Given the description of an element on the screen output the (x, y) to click on. 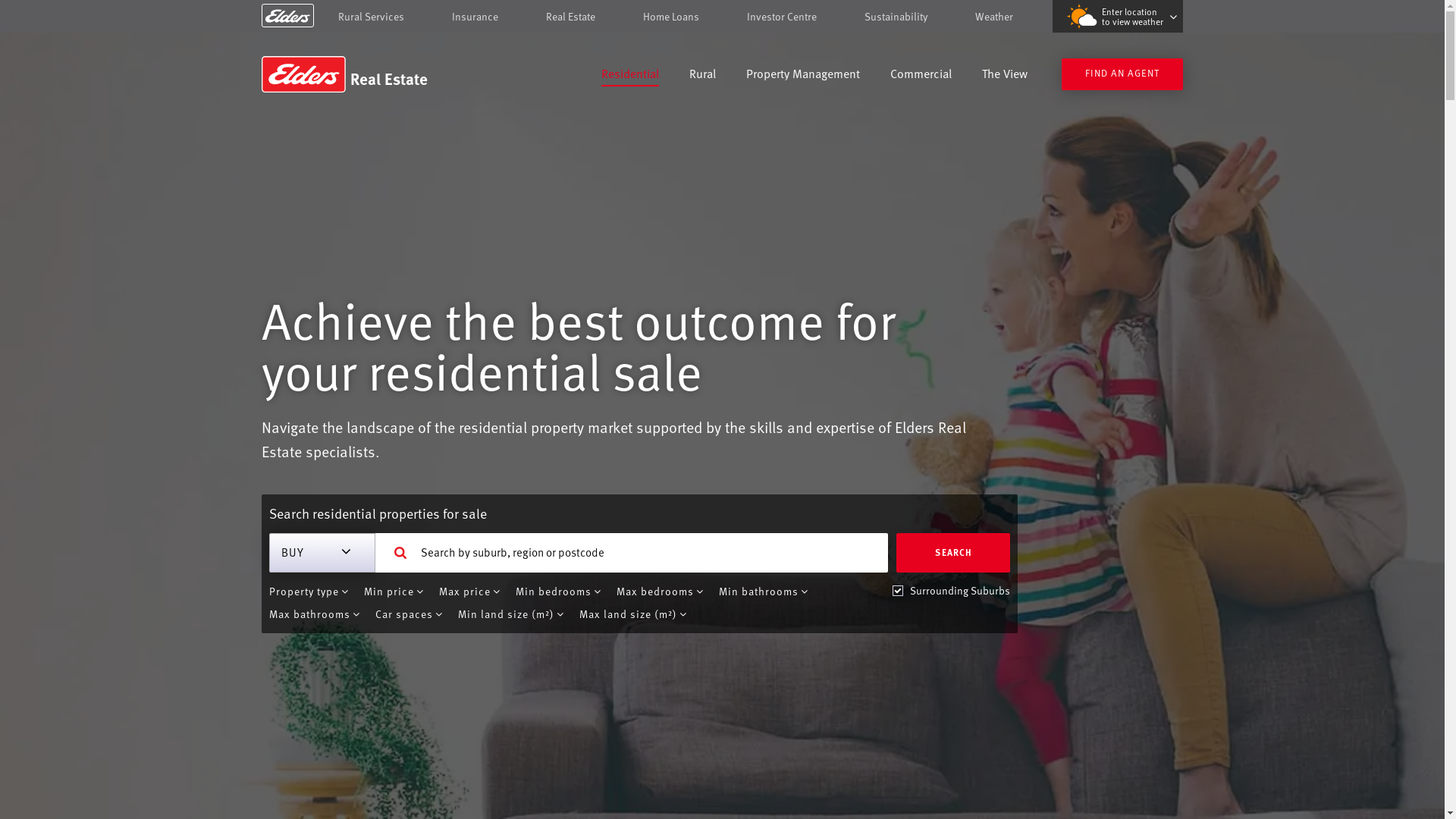
Skip to content Element type: text (722, 17)
Real Estate Element type: text (369, 74)
The View Element type: text (1004, 75)
Sustainability Element type: text (895, 16)
Real Estate Element type: text (570, 16)
Investor Centre Element type: text (781, 16)
Property Management Element type: text (802, 75)
Rural Element type: text (702, 75)
SEARCH Element type: text (953, 552)
Rural Services Element type: text (371, 16)
Commercial Element type: text (920, 75)
FIND AN AGENT Element type: text (1122, 74)
Enter location to view weather Element type: text (1117, 16)
Insurance Element type: text (474, 16)
Residential Element type: text (629, 75)
Home Loans Element type: text (671, 16)
Weather Element type: text (994, 16)
